Given the description of an element on the screen output the (x, y) to click on. 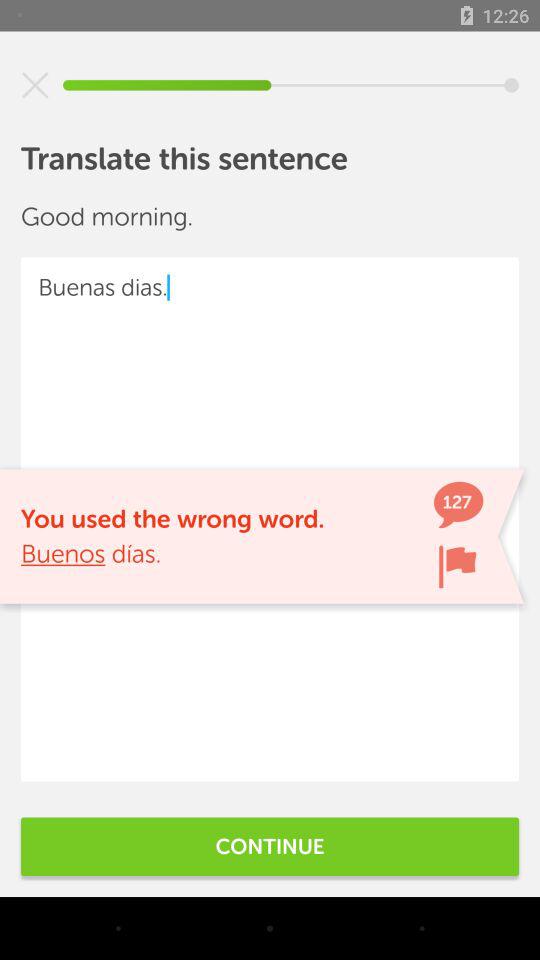
press the item to the right of the you used the item (457, 566)
